Given the description of an element on the screen output the (x, y) to click on. 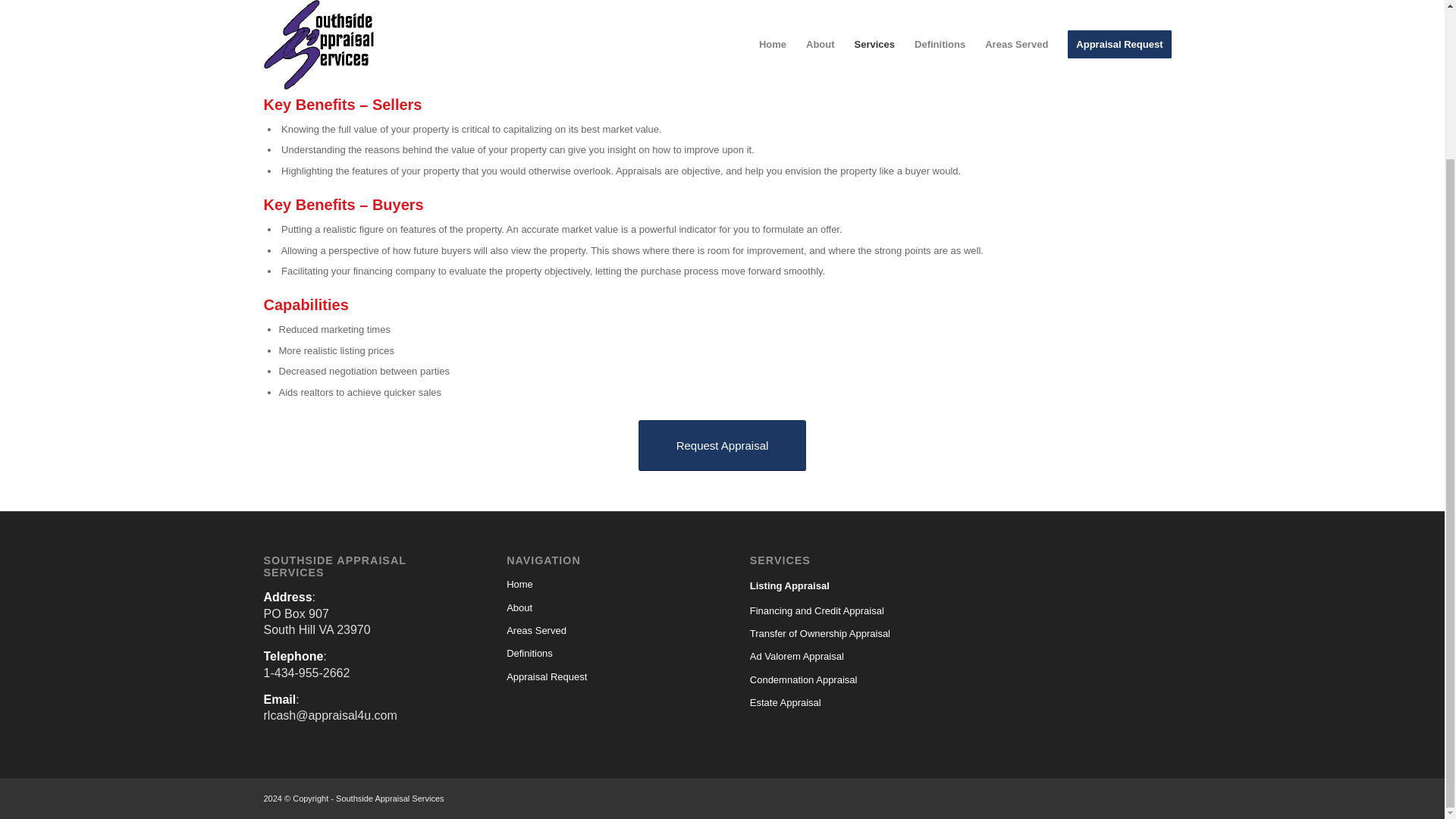
Financing and Credit Appraisal (843, 609)
Condemnation Appraisal (843, 680)
Ad Valorem Appraisal (843, 656)
Home (600, 584)
Listing Appraisal (843, 585)
Request Appraisal (722, 445)
About (600, 607)
Appraisal Request (600, 676)
Estate Appraisal (843, 702)
Areas Served (600, 630)
